Given the description of an element on the screen output the (x, y) to click on. 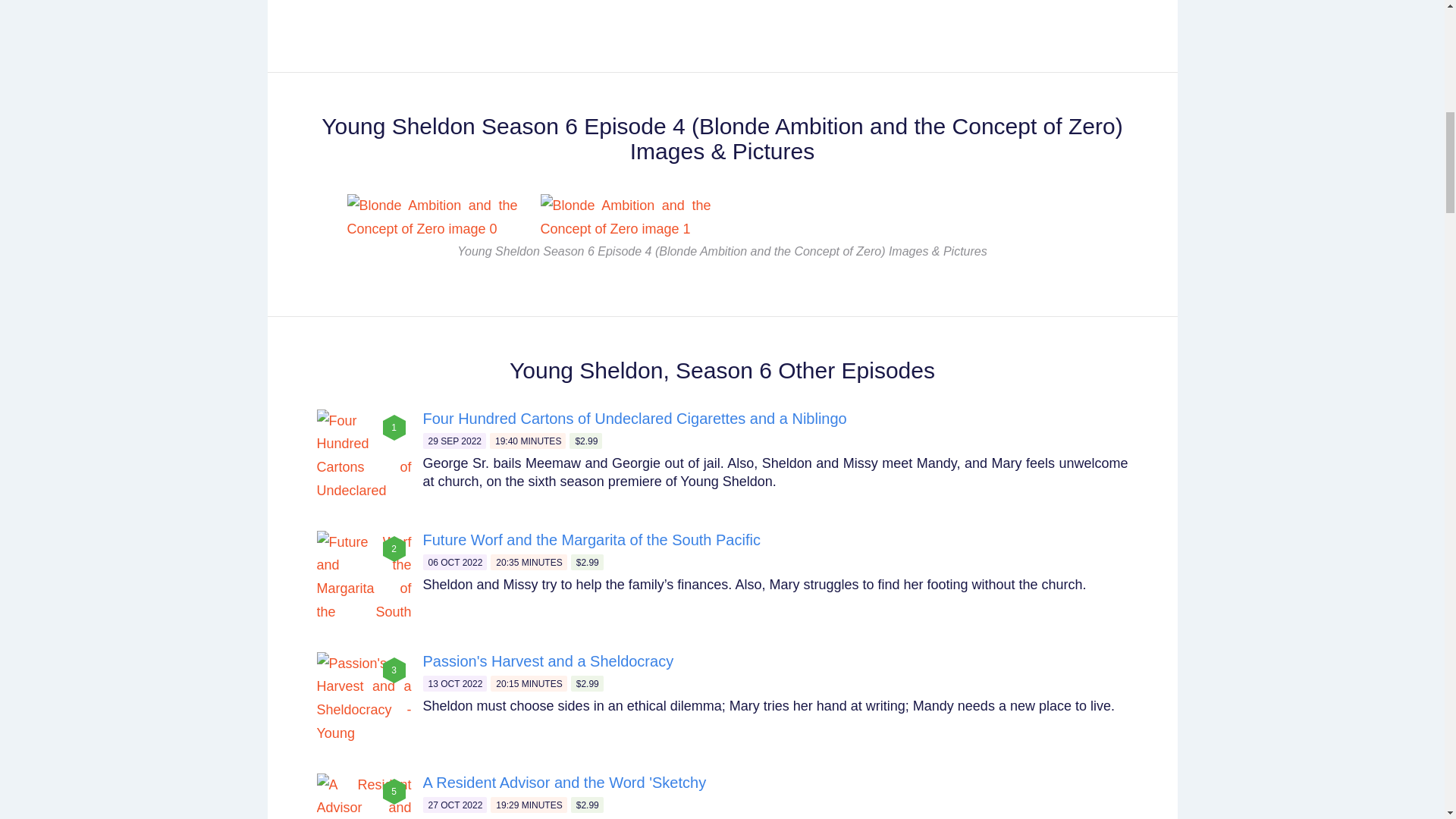
Four Hundred Cartons of Undeclared Cigarettes and a Niblingo (635, 418)
Future Worf and the Margarita of the South Pacific (591, 539)
Passion's Harvest and a Sheldocracy (548, 660)
